Given the description of an element on the screen output the (x, y) to click on. 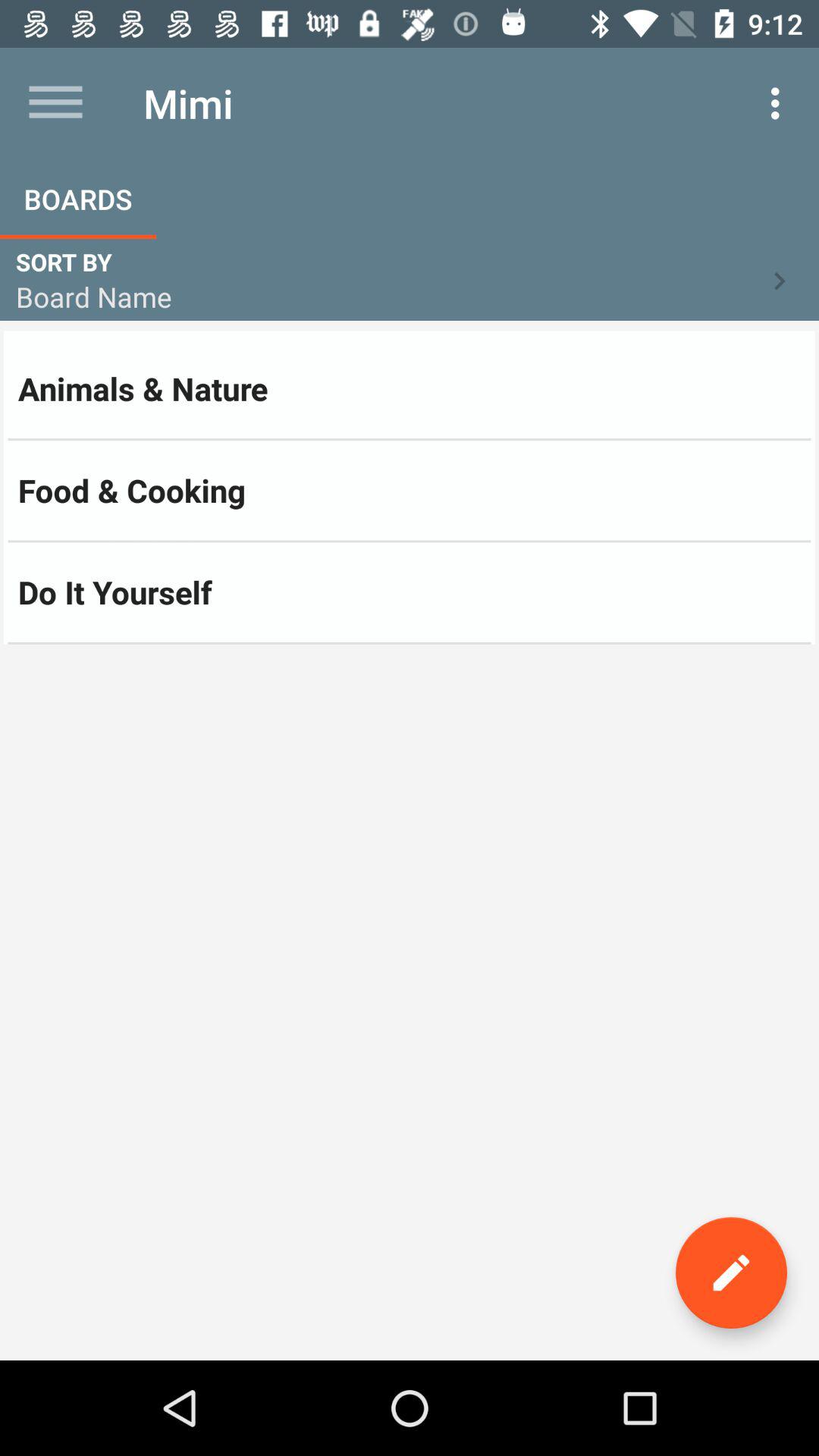
select the item next to the mimi icon (779, 103)
